Given the description of an element on the screen output the (x, y) to click on. 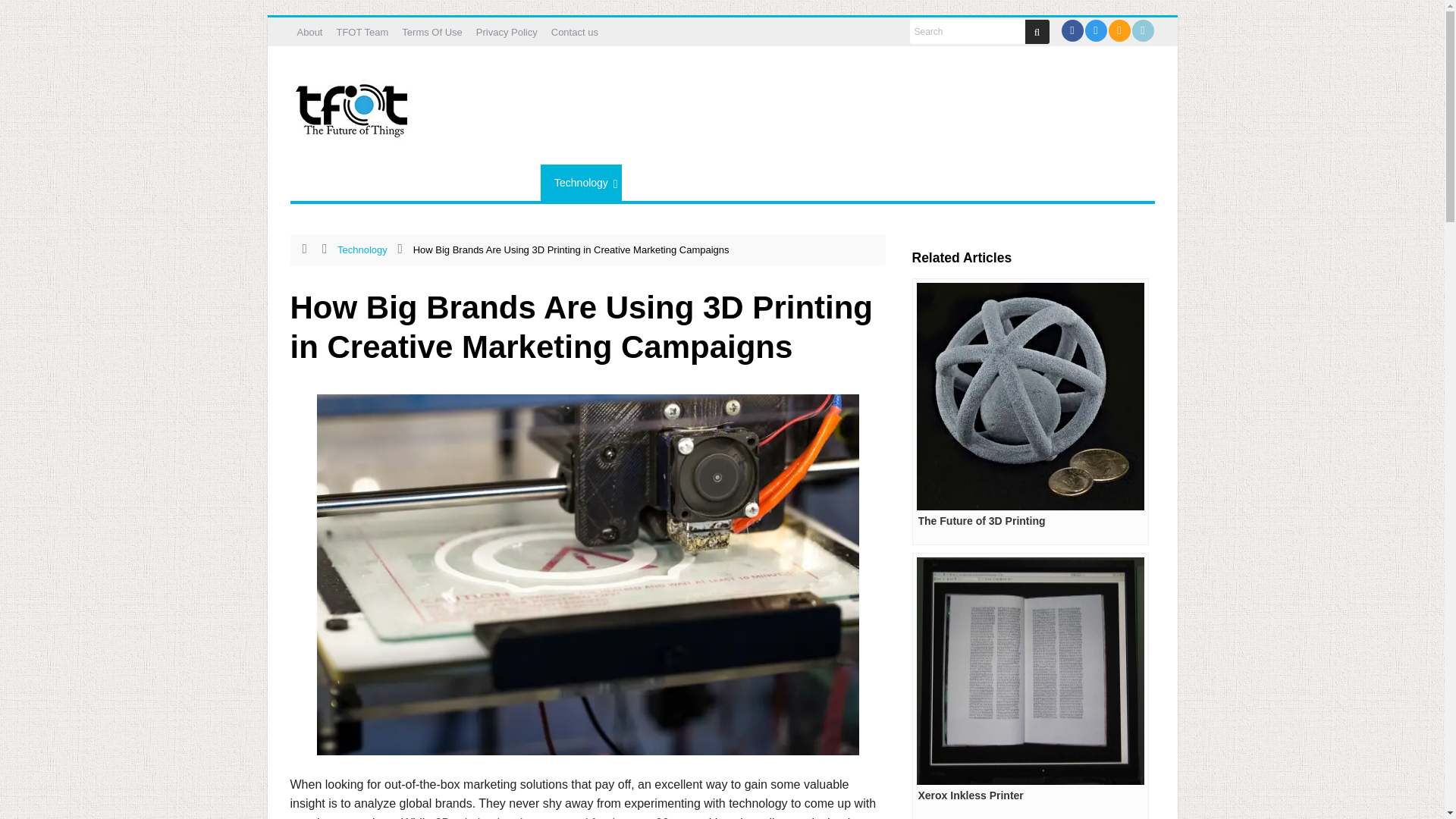
LinkedIn (1142, 30)
Privacy Policy (506, 32)
Computers (436, 182)
Facebook (1071, 30)
Search (967, 31)
Rss (1118, 30)
Contact us (574, 32)
Communications (342, 182)
TFOT Team (361, 32)
Contact us (574, 32)
